Given the description of an element on the screen output the (x, y) to click on. 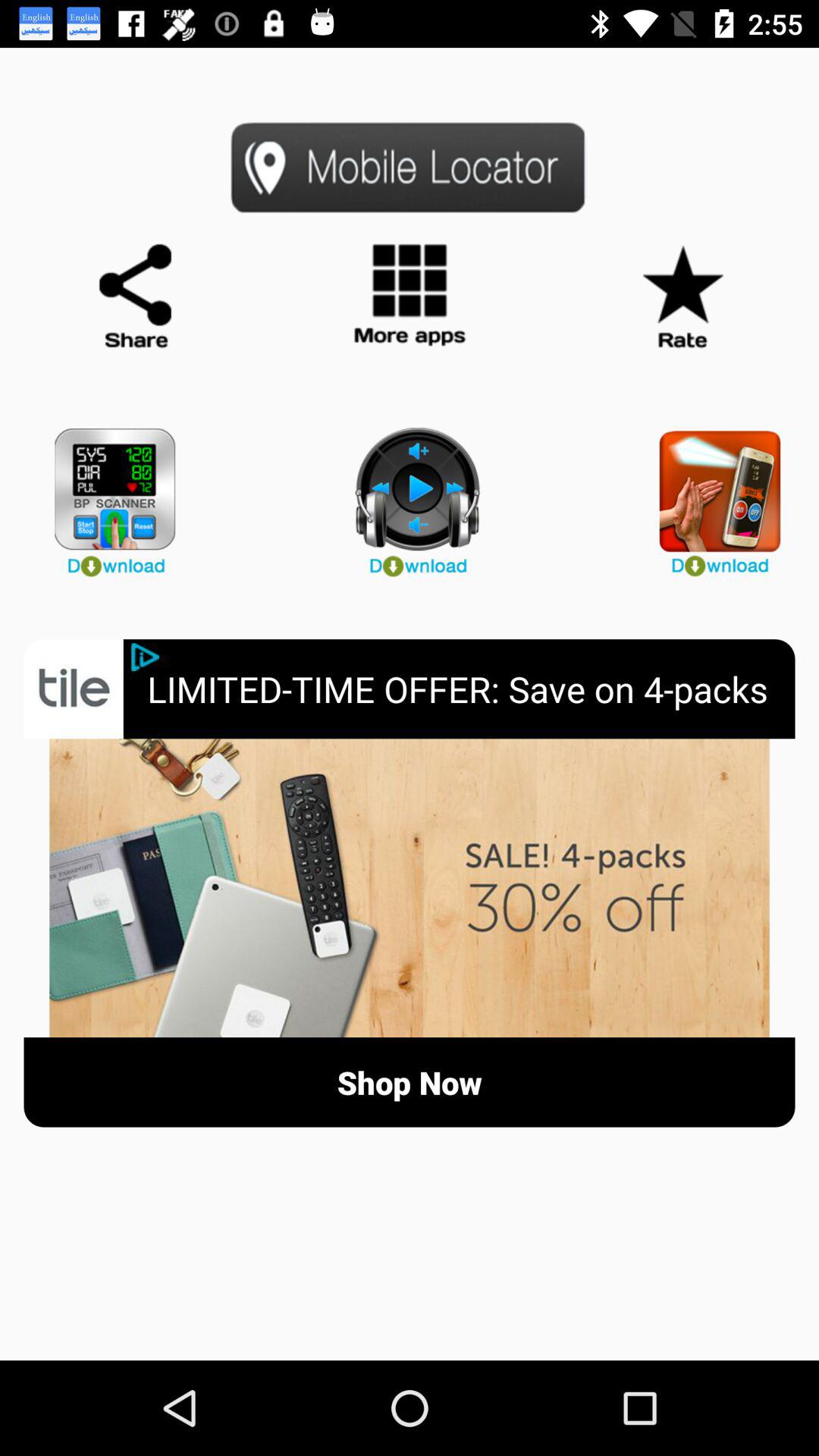
activate mobile locator (409, 167)
